Given the description of an element on the screen output the (x, y) to click on. 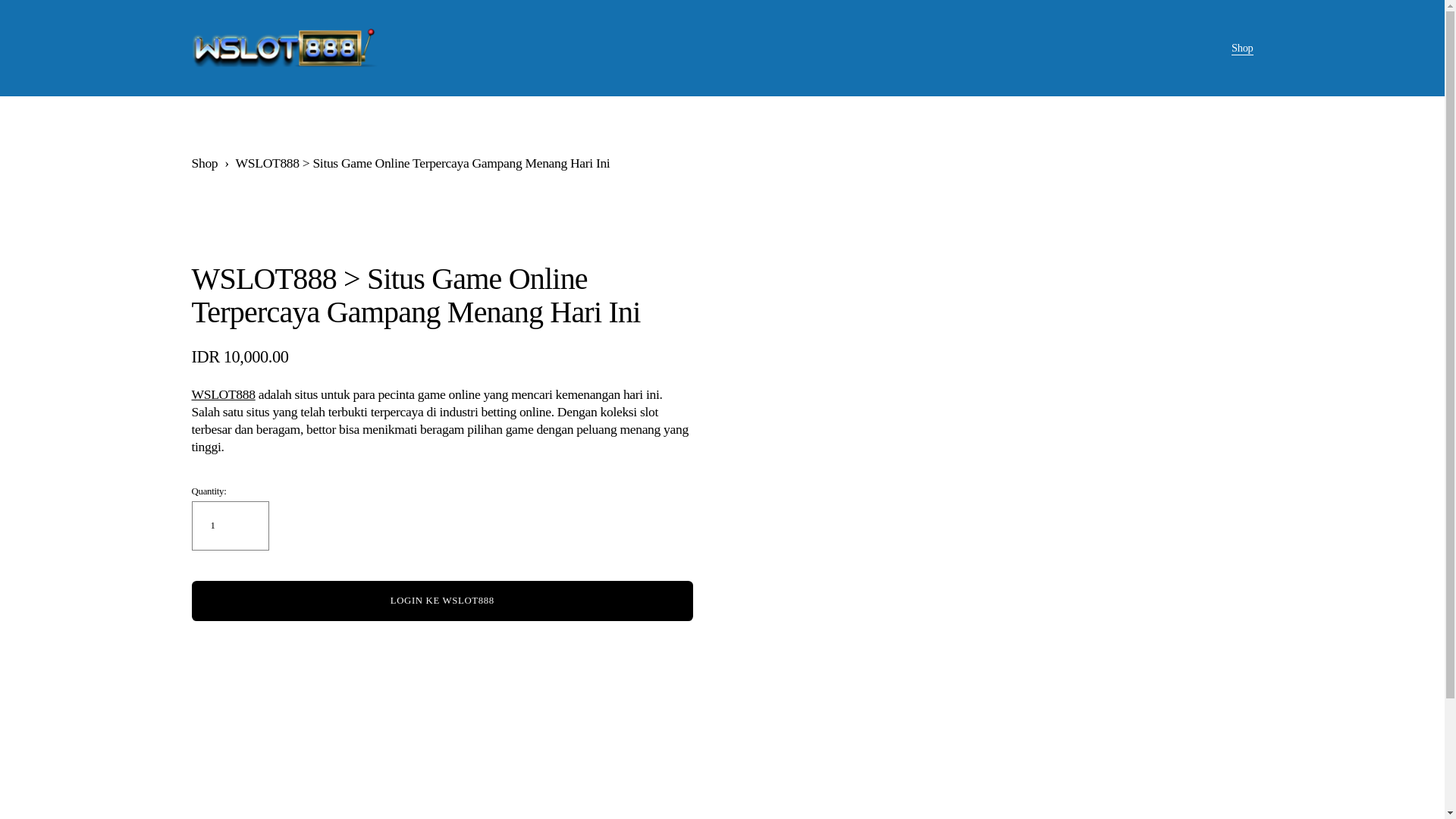
LOGIN KE WSLOT888 (441, 598)
WSLOT888 (222, 394)
Shop (203, 162)
Shop (1241, 48)
1 (228, 525)
